Given the description of an element on the screen output the (x, y) to click on. 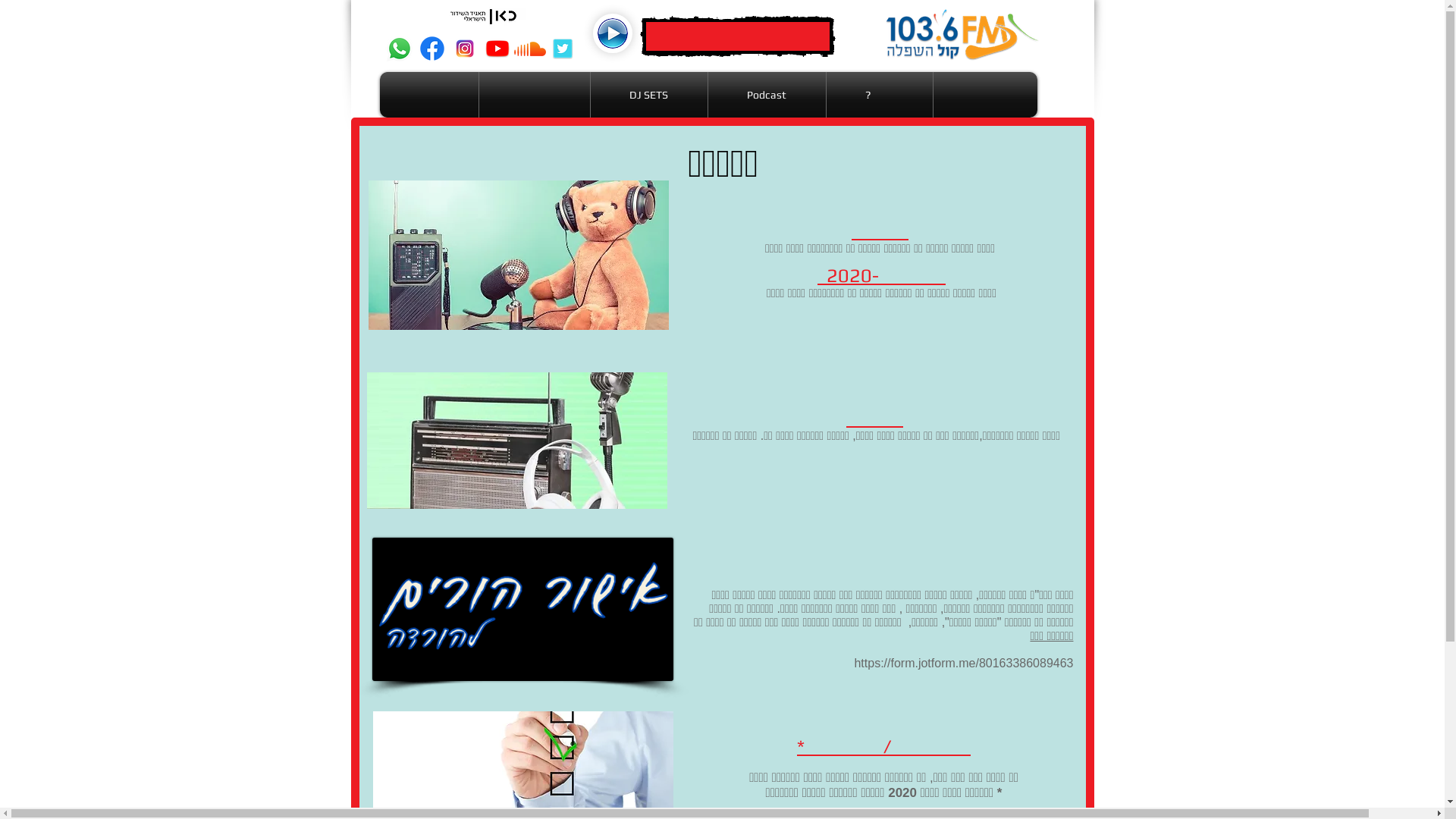
https://form.jotform.me/80163386089463 Element type: text (963, 662)
Facebook Like Popup Element type: hover (1362, 792)
DJ SETS Element type: text (648, 94)
Podcast Element type: text (766, 94)
